Given the description of an element on the screen output the (x, y) to click on. 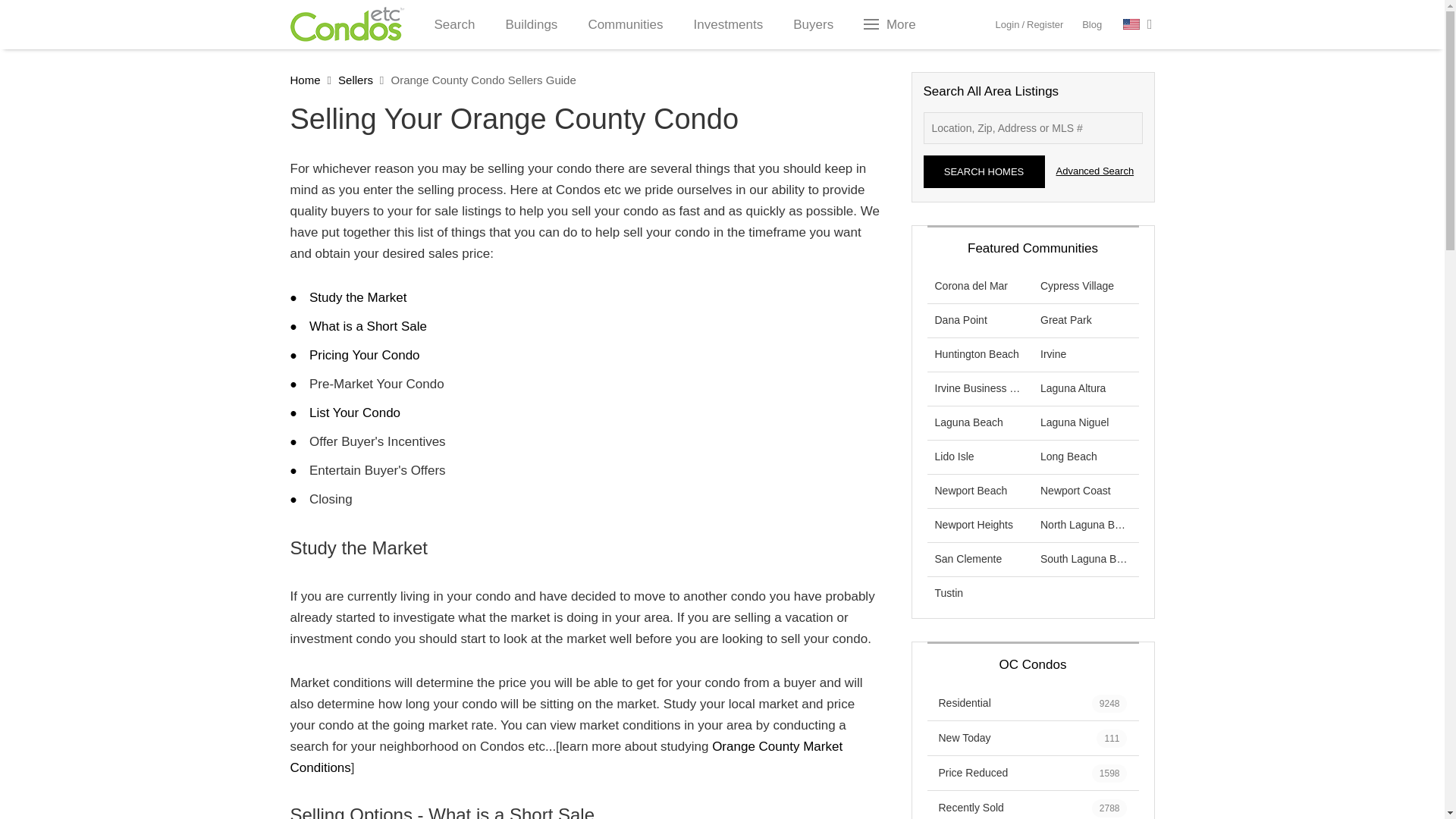
More (891, 24)
Communities (625, 24)
Search (454, 24)
Select Language (1137, 24)
Blog (1091, 24)
Investments (728, 24)
Buyers (812, 24)
Register (1044, 24)
Buildings (530, 24)
